Given the description of an element on the screen output the (x, y) to click on. 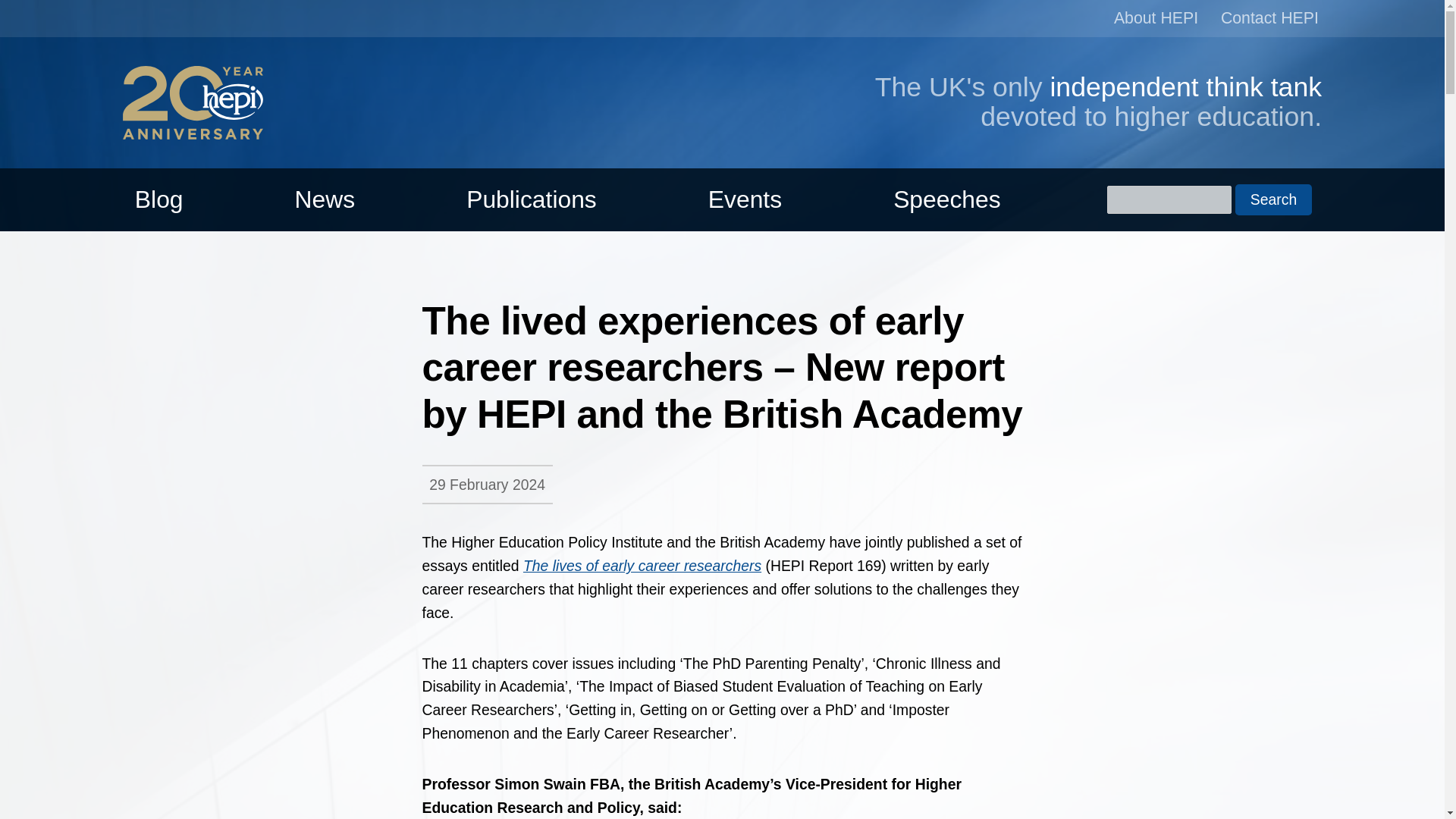
Contact HEPI (1269, 18)
Search (1272, 200)
Publications (531, 199)
The lives of early career researchers (641, 565)
About HEPI (1156, 18)
Speeches (945, 199)
Events (744, 199)
News (324, 199)
Blog (158, 199)
Search (1272, 200)
